Given the description of an element on the screen output the (x, y) to click on. 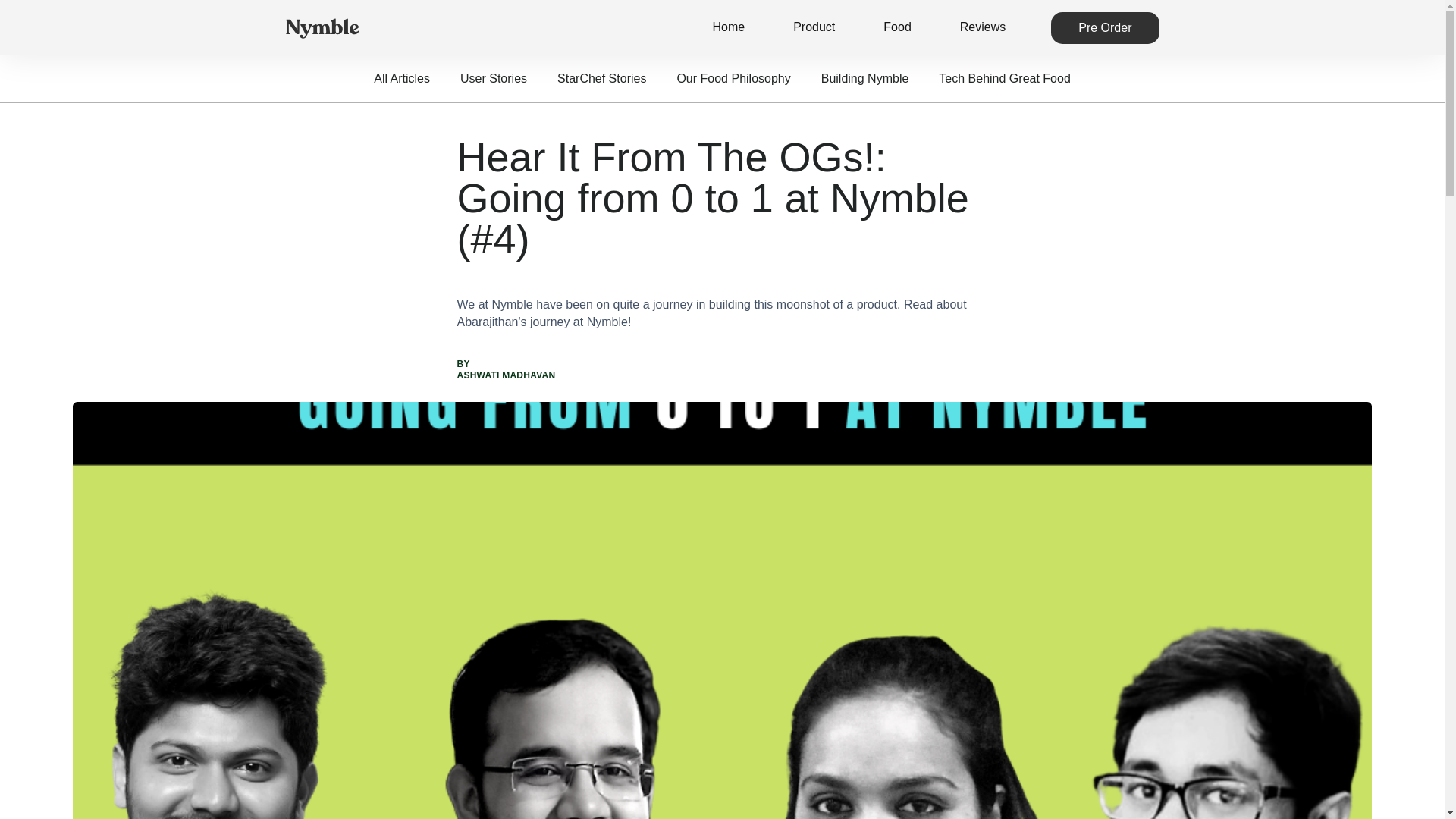
Food (897, 28)
Building Nymble (865, 78)
StarChef Stories (601, 78)
Our Food Philosophy (733, 78)
Home (727, 28)
Product (813, 28)
User Stories (493, 78)
Tech Behind Great Food (1003, 78)
Reviews (982, 28)
Pre Order (1104, 28)
All Articles (401, 78)
